Given the description of an element on the screen output the (x, y) to click on. 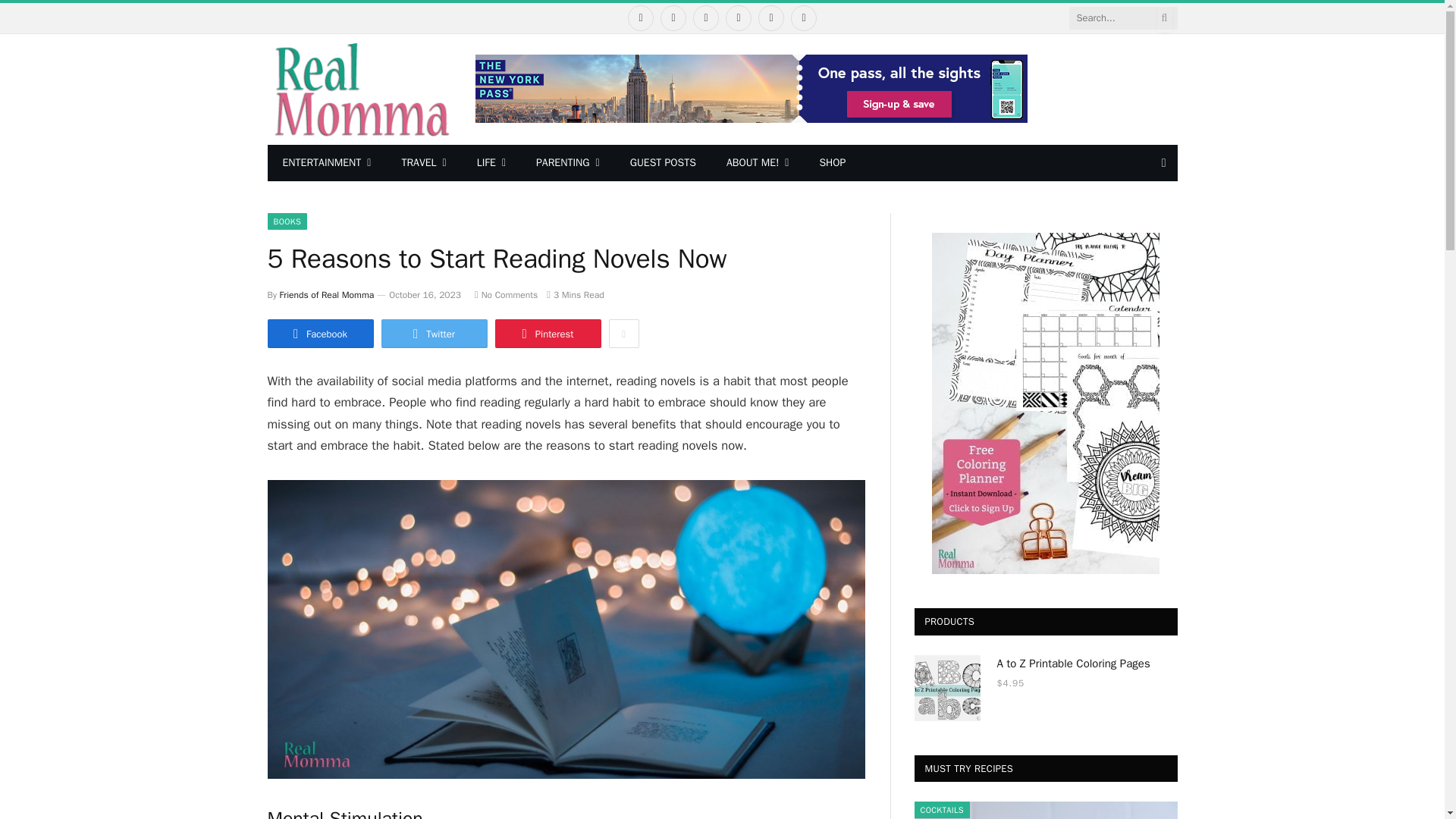
Real Momma (358, 89)
Facebook (640, 17)
ENTERTAINMENT (325, 162)
TRAVEL (423, 162)
Instagram (706, 17)
Pinterest (738, 17)
RSS (803, 17)
YouTube (771, 17)
